Given the description of an element on the screen output the (x, y) to click on. 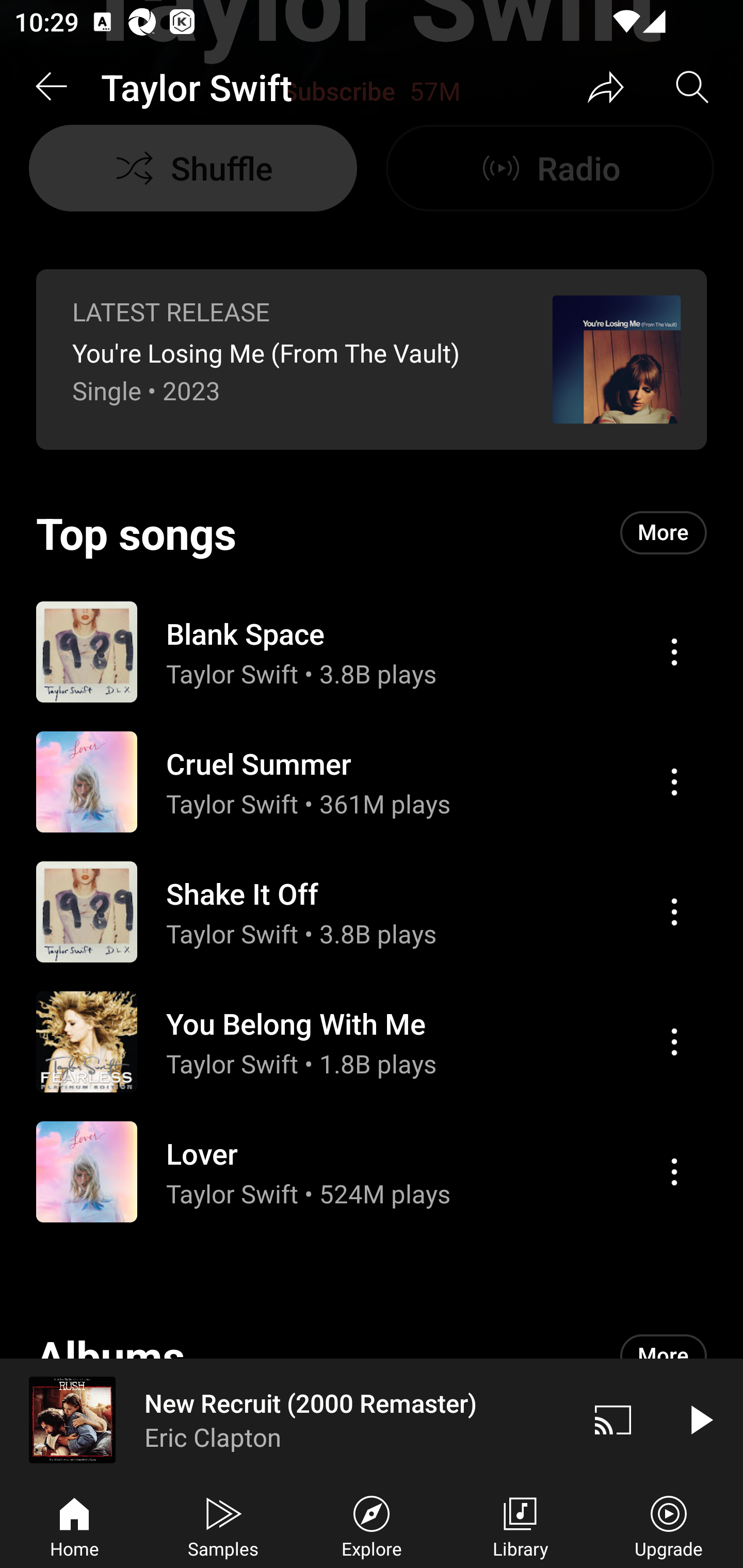
Back (50, 86)
Share (605, 86)
Search (692, 86)
Action menu (371, 651)
Action menu (673, 652)
Action menu (371, 781)
Action menu (673, 781)
Action menu (371, 911)
Action menu (673, 911)
Action menu (371, 1041)
Action menu (673, 1041)
Action menu (371, 1172)
Action menu (673, 1172)
New Recruit (2000 Remaster) Eric Clapton (284, 1419)
Cast. Disconnected (612, 1419)
Play video (699, 1419)
Home (74, 1524)
Samples (222, 1524)
Explore (371, 1524)
Library (519, 1524)
Upgrade (668, 1524)
